Given the description of an element on the screen output the (x, y) to click on. 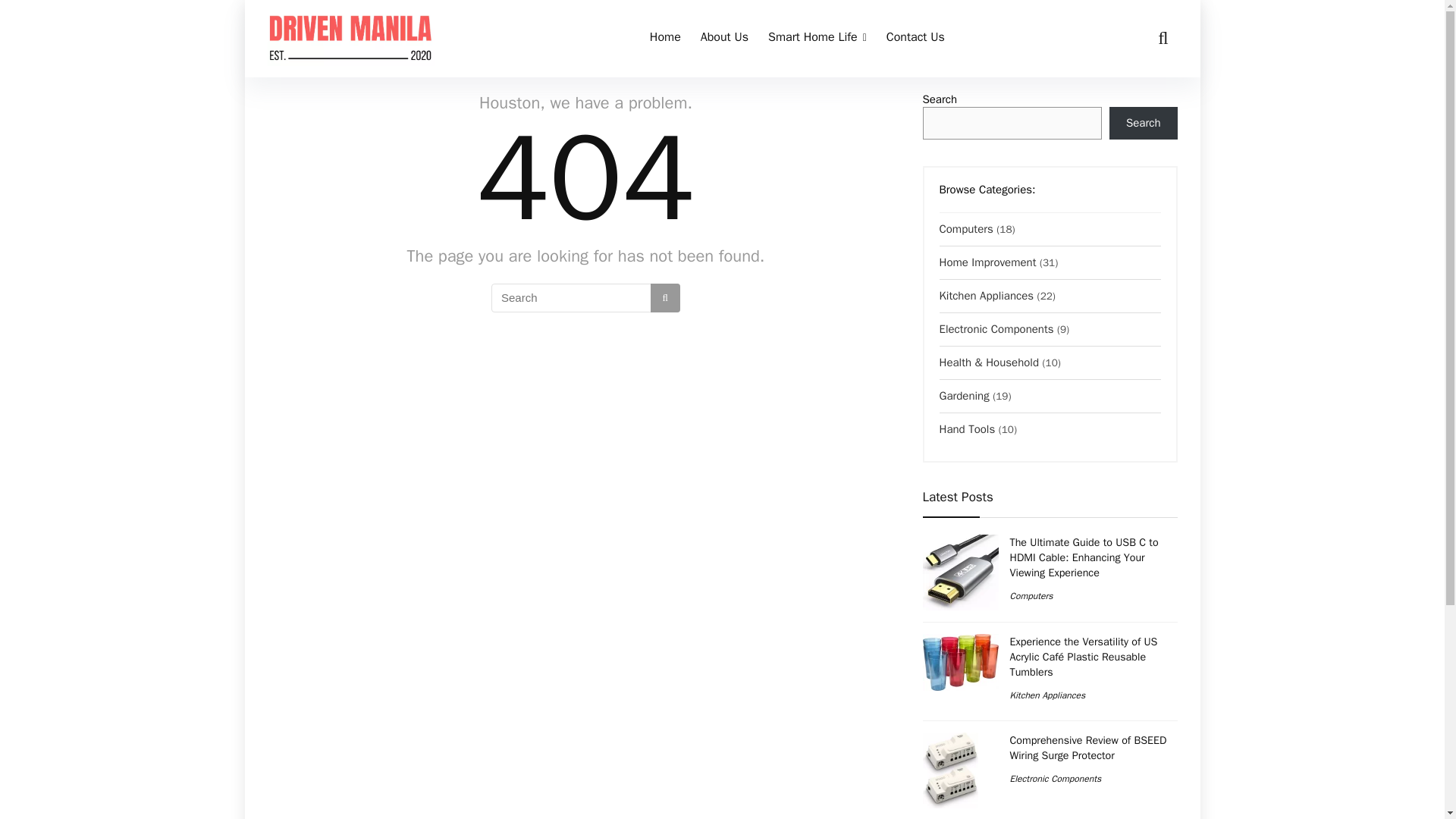
Kitchen Appliances (986, 296)
Search (1143, 123)
Smart Home Life (817, 38)
Comprehensive Review of BSEED Wiring Surge Protector (1088, 747)
Home Improvement (987, 262)
Contact Us (915, 38)
Hand Tools (966, 429)
Computers (1031, 595)
Gardening (963, 396)
